Given the description of an element on the screen output the (x, y) to click on. 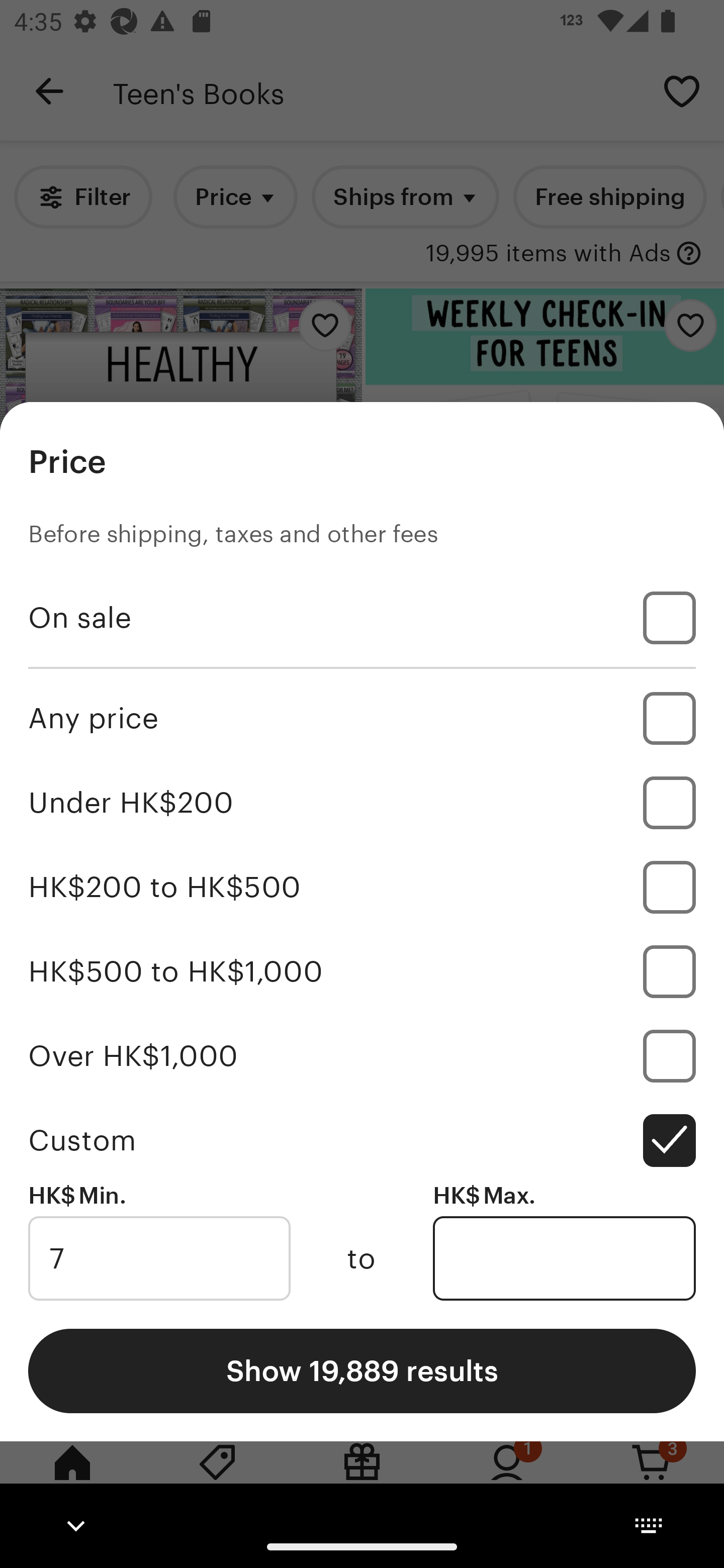
On sale (362, 617)
Any price (362, 717)
Under HK$200 (362, 802)
HK$200 to HK$500 (362, 887)
HK$500 to HK$1,000 (362, 970)
Over HK$1,000 (362, 1054)
Custom (362, 1139)
7 (159, 1257)
Show 19,889 results (361, 1370)
